Given the description of an element on the screen output the (x, y) to click on. 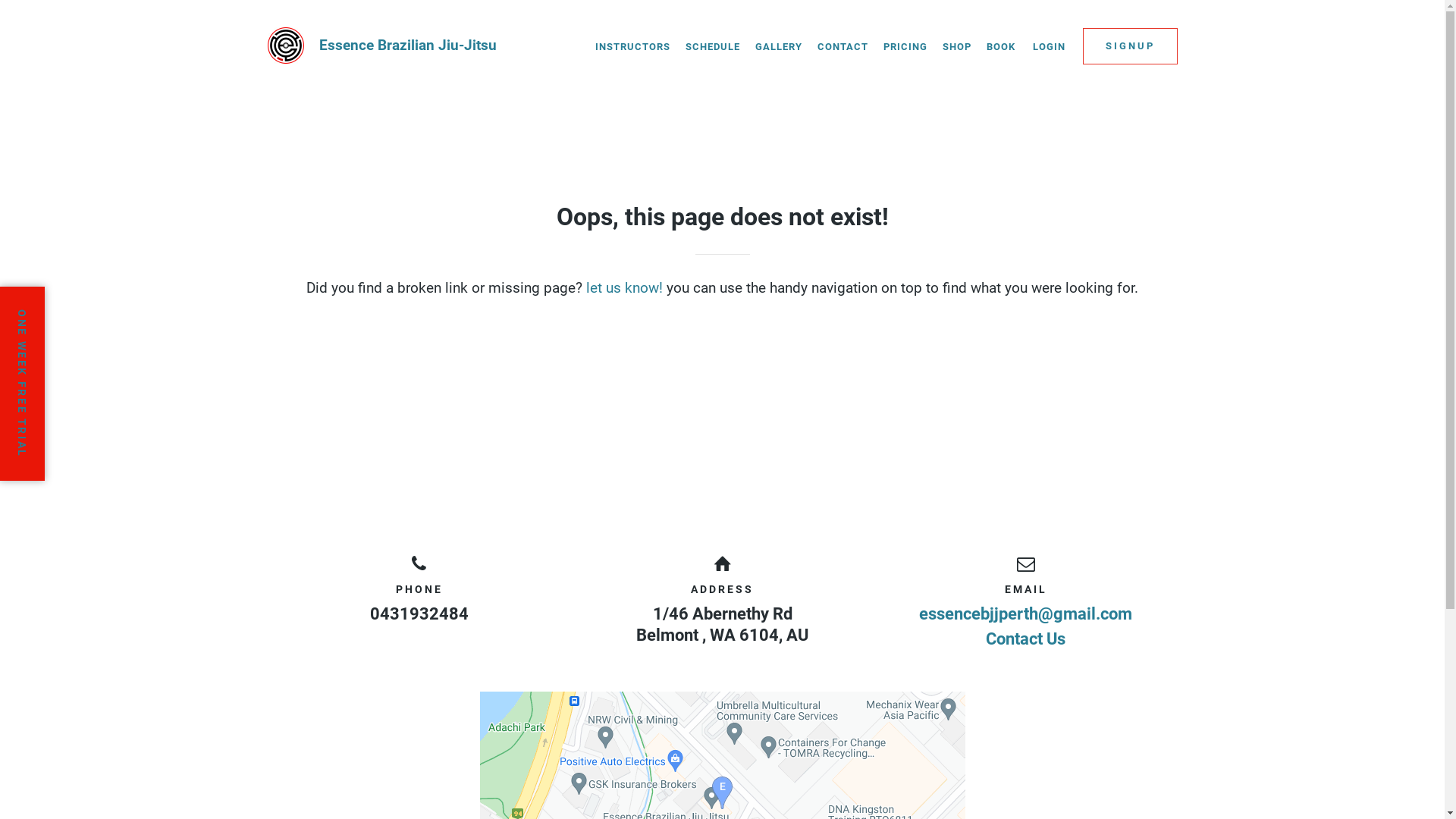
INSTRUCTORS Element type: text (631, 46)
SHOP Element type: text (956, 46)
let us know! Element type: text (624, 287)
essencebjjperth@gmail.com Element type: text (1025, 613)
SIGNUP Element type: text (1129, 46)
BOOK Element type: text (1000, 46)
CONTACT Element type: text (842, 46)
Essence Brazilian Jiu-Jitsu Element type: text (380, 45)
LOGIN Element type: text (1049, 46)
SCHEDULE Element type: text (712, 46)
GALLERY Element type: text (778, 46)
Contact Us Element type: text (1025, 638)
PRICING Element type: text (904, 46)
